Given the description of an element on the screen output the (x, y) to click on. 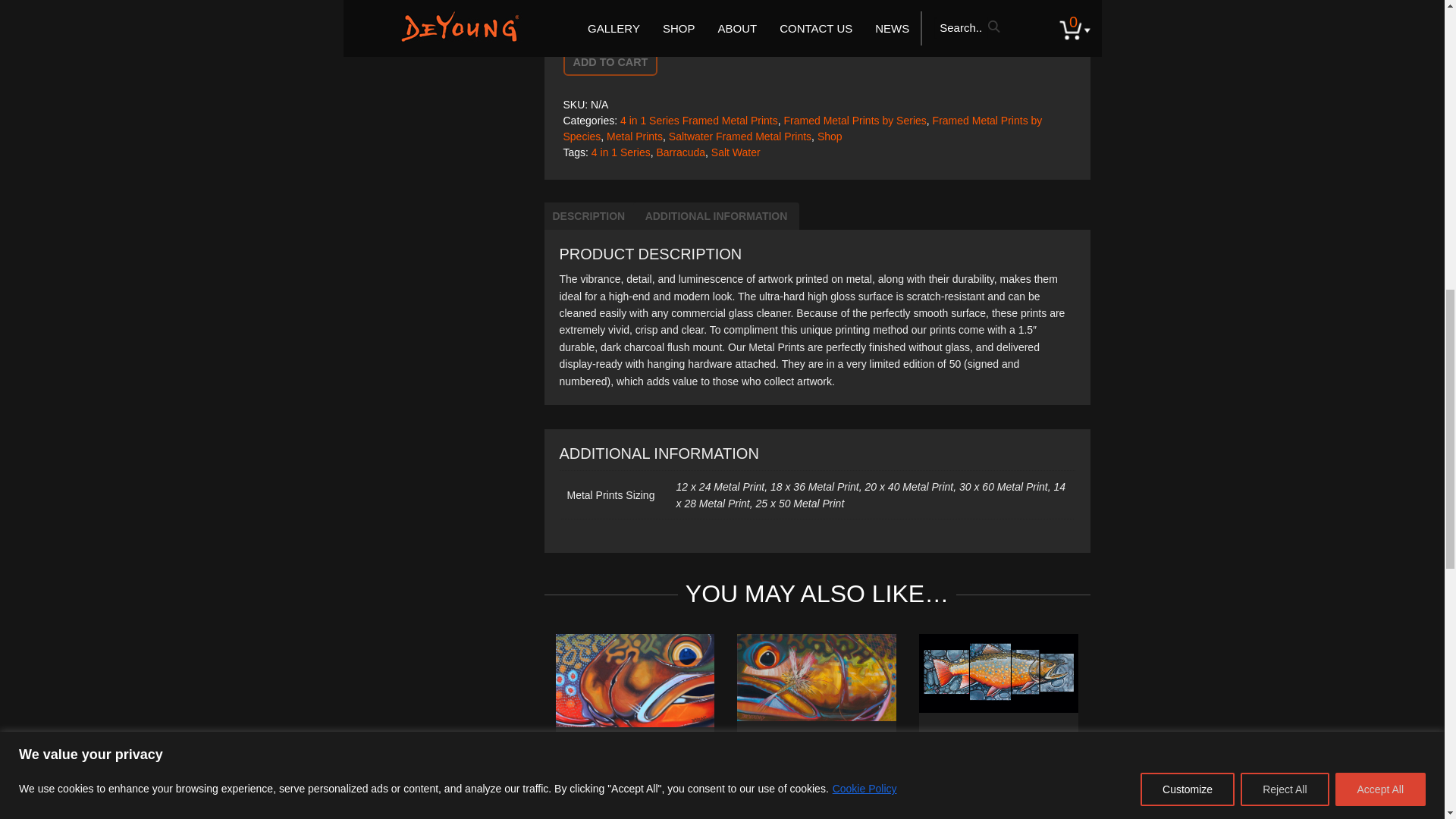
1 (581, 13)
